Given the description of an element on the screen output the (x, y) to click on. 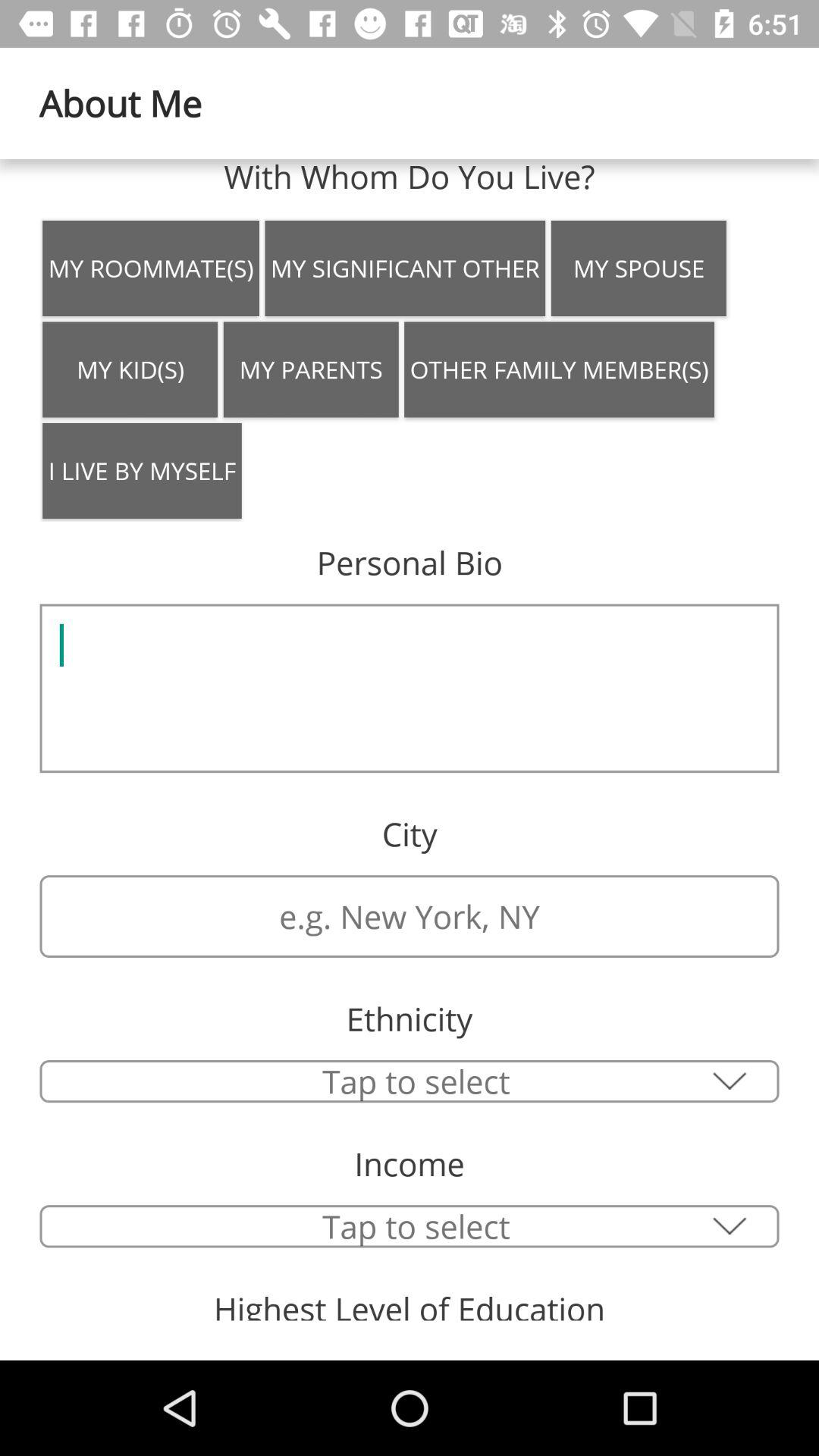
income level dropdown menu (409, 1226)
